Given the description of an element on the screen output the (x, y) to click on. 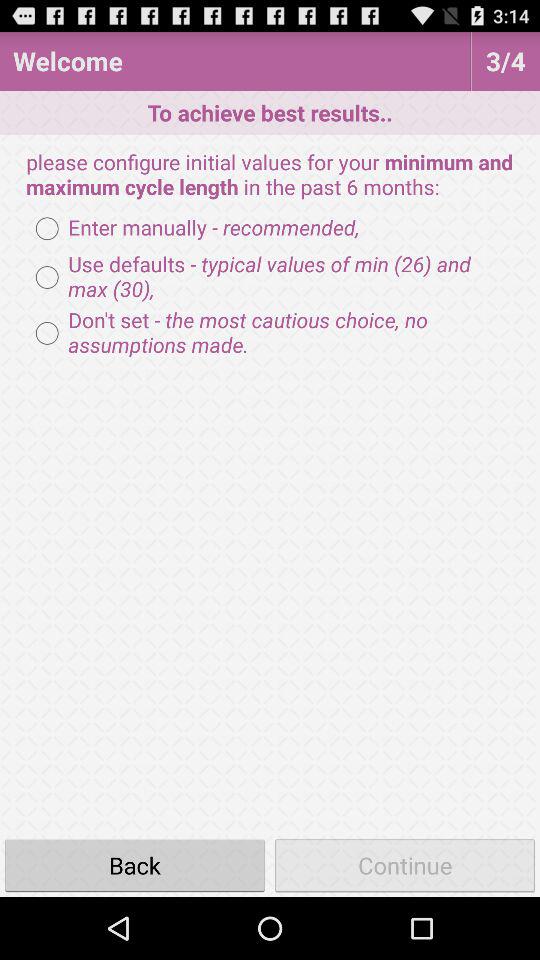
open don t set radio button (269, 333)
